Given the description of an element on the screen output the (x, y) to click on. 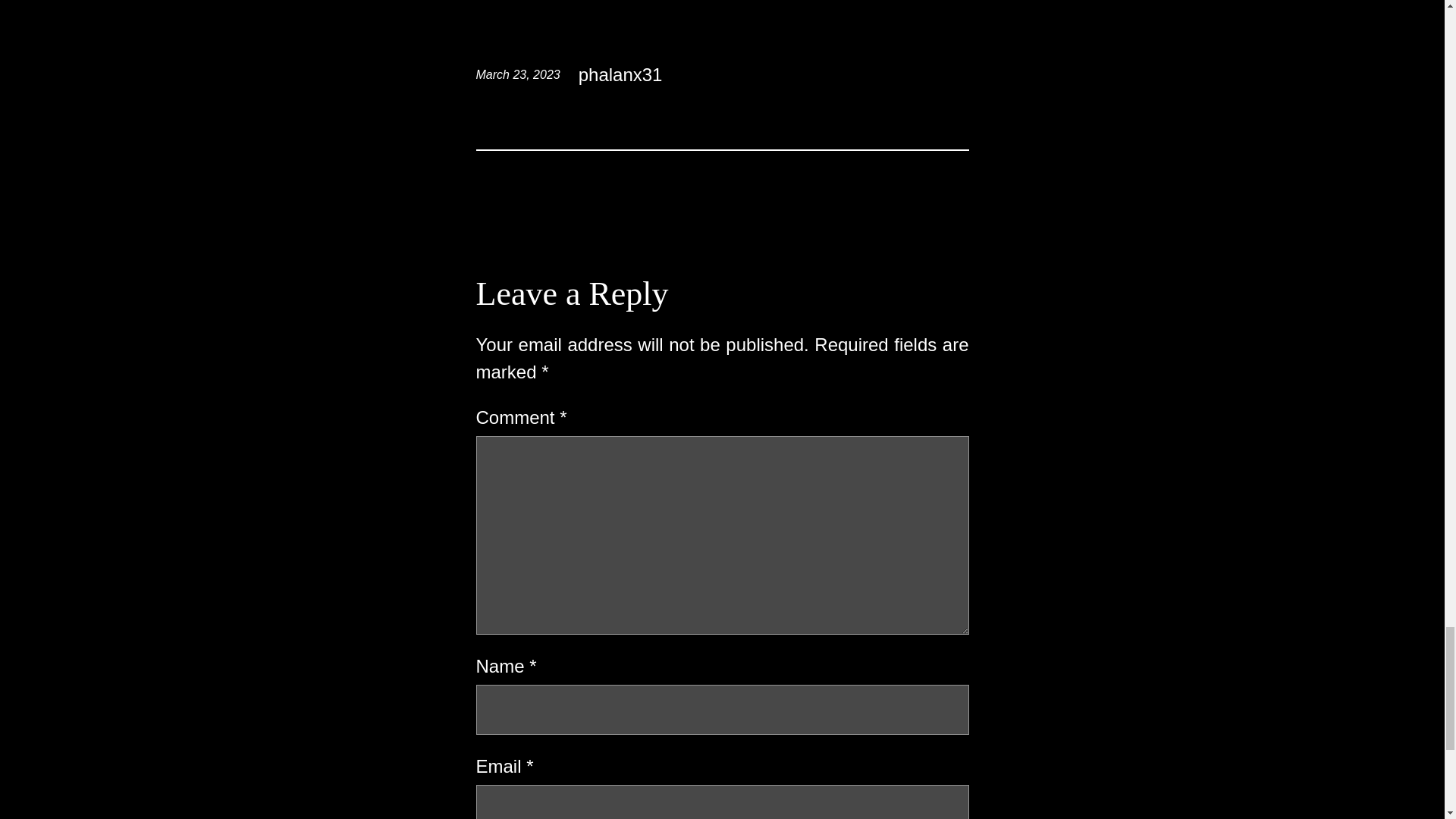
no employment verification payday loans (789, 74)
